Given the description of an element on the screen output the (x, y) to click on. 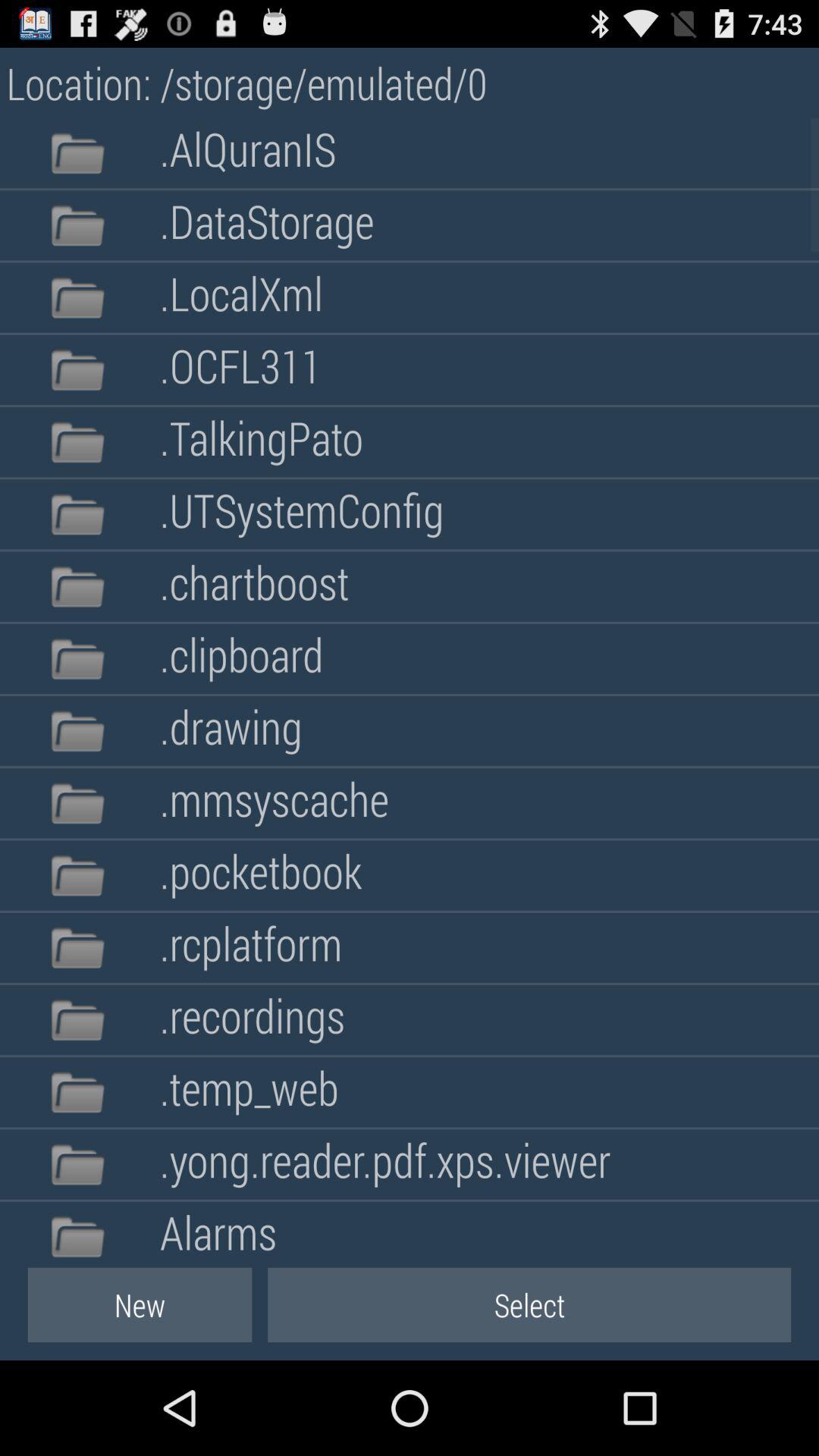
choose button to the right of new item (529, 1304)
